Given the description of an element on the screen output the (x, y) to click on. 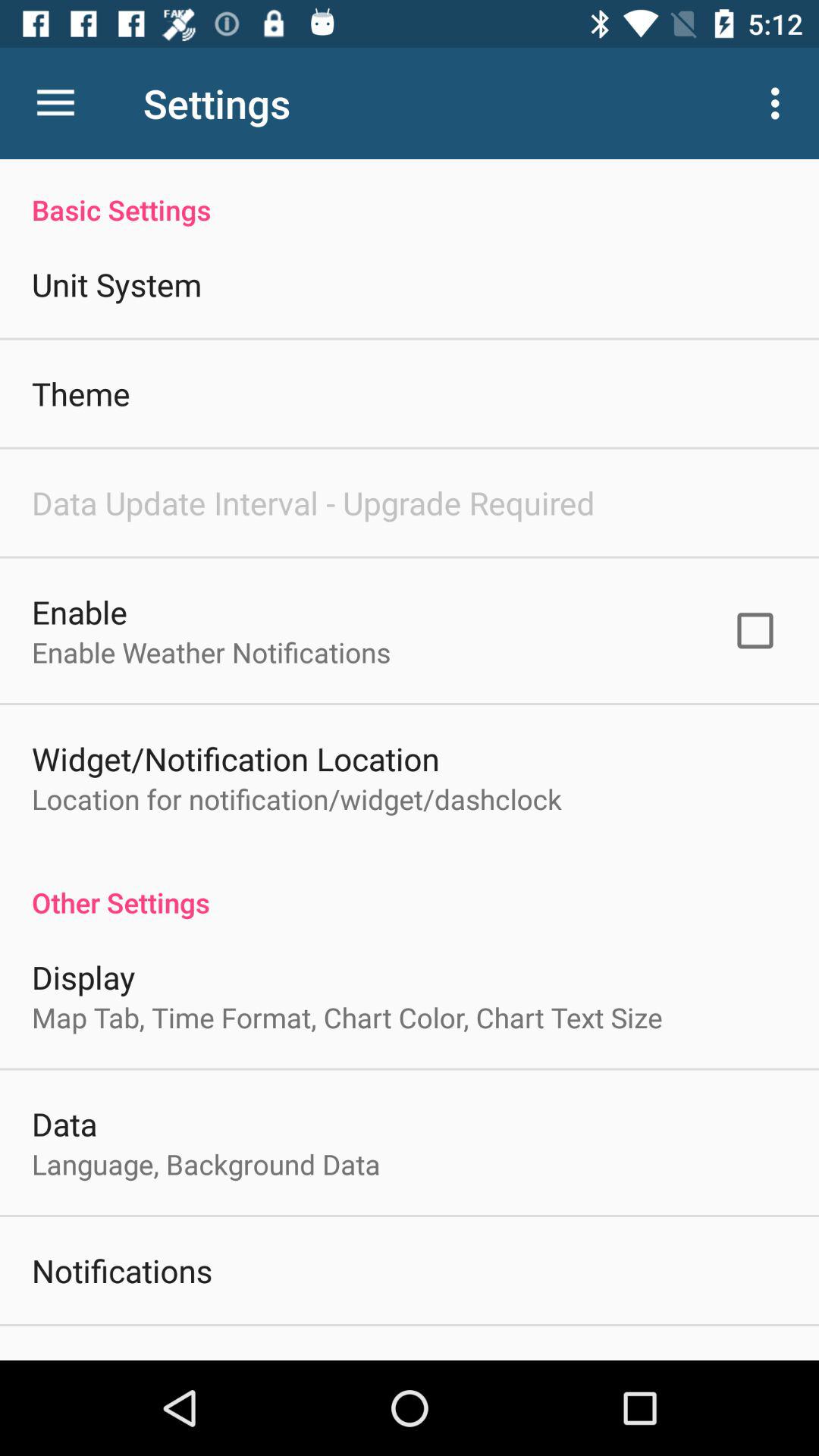
flip to the data update interval (312, 502)
